Given the description of an element on the screen output the (x, y) to click on. 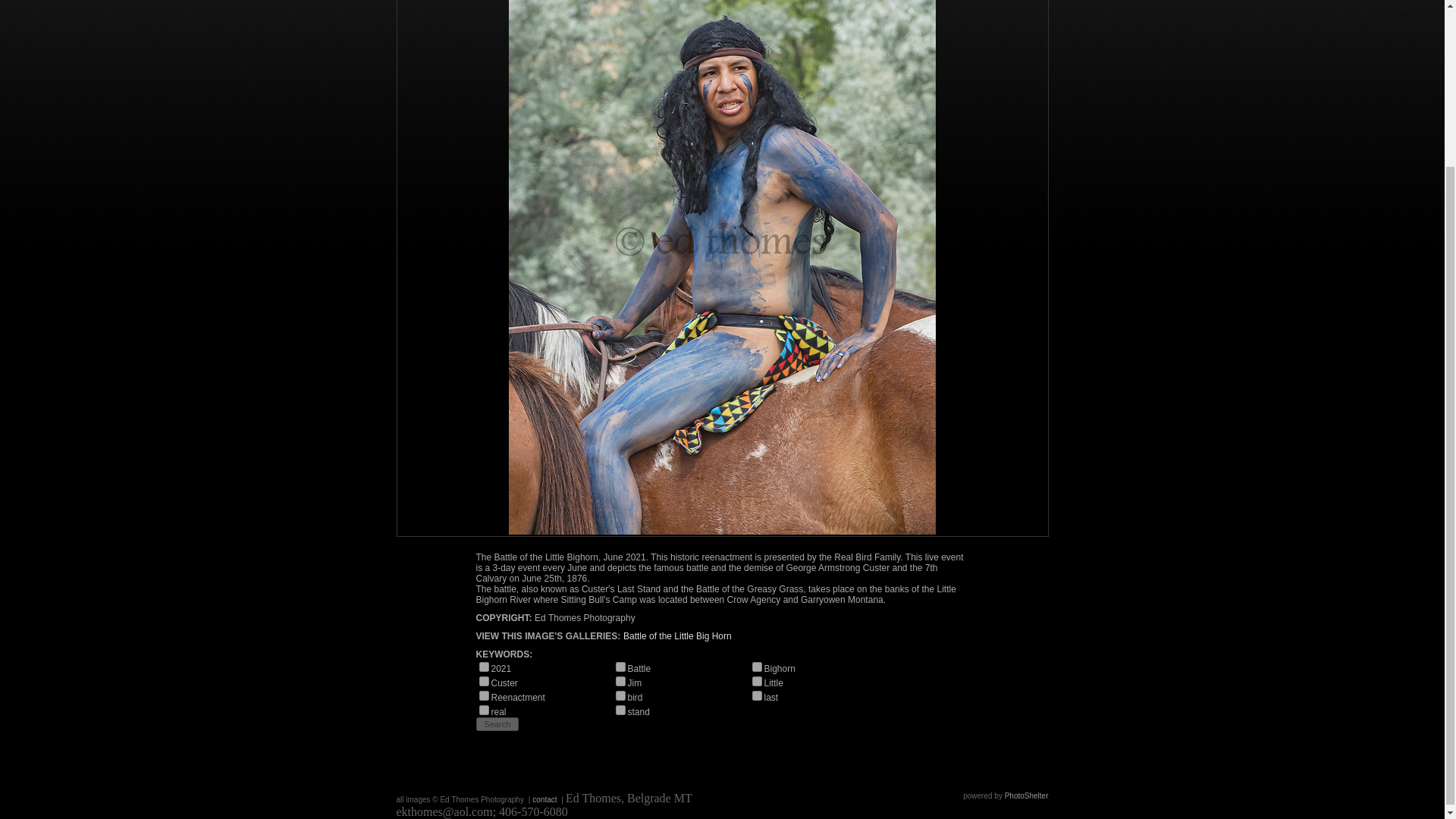
 Search  (497, 724)
real (484, 709)
last (756, 696)
 Search  (497, 724)
Battle (620, 666)
Battle of the Little Big Horn (677, 635)
bird (620, 696)
Custer (484, 681)
Little (756, 681)
2021 (484, 666)
stand (620, 709)
PhotoShelter (1026, 795)
Jim (620, 681)
Reenactment (484, 696)
Bighorn (756, 666)
